Given the description of an element on the screen output the (x, y) to click on. 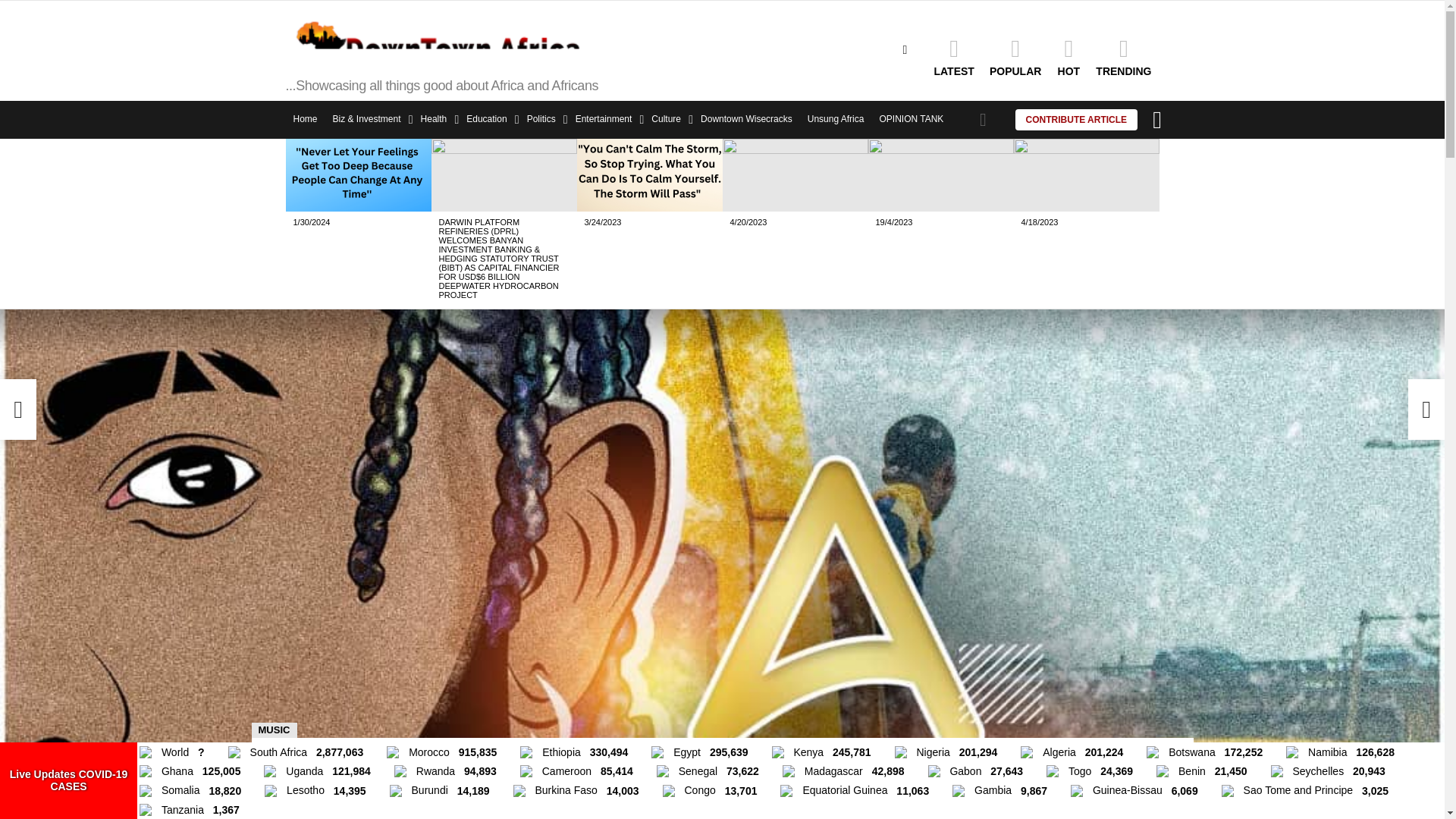
Home (304, 119)
TRENDING (1122, 56)
Politics (543, 119)
LATEST (953, 56)
POPULAR (1014, 56)
Health (436, 119)
Education (488, 119)
HOT (1067, 56)
